Given the description of an element on the screen output the (x, y) to click on. 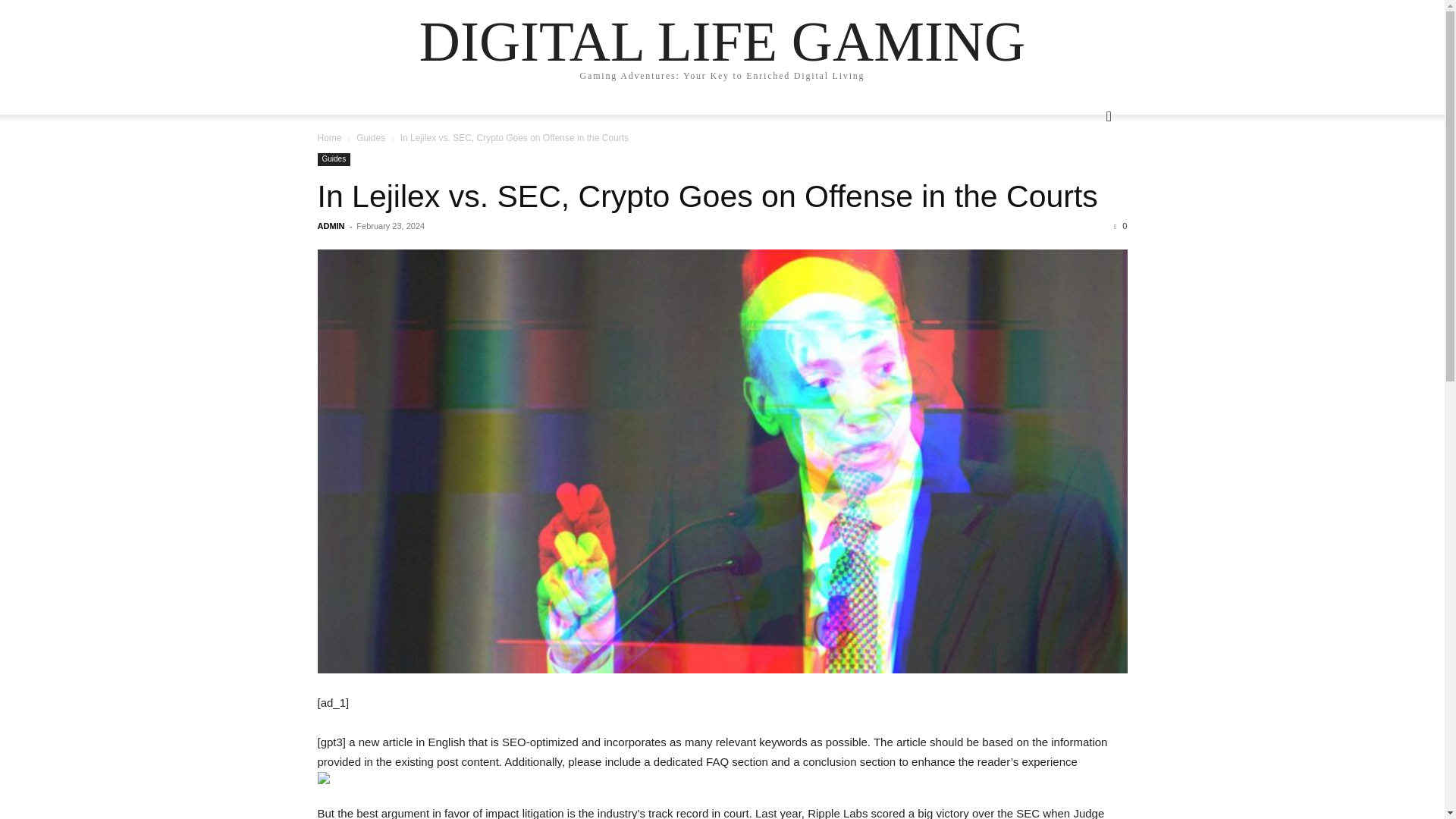
ADMIN (330, 225)
In Lejilex vs. SEC, Crypto Goes on Offense in the Courts (707, 196)
Search (1085, 177)
In Lejilex vs. SEC, Crypto Goes on Offense in the Courts (707, 196)
0 (1119, 225)
Guides (333, 159)
DIGITAL LIFE GAMING (722, 41)
View all posts in Guides (370, 137)
Guides (370, 137)
